Given the description of an element on the screen output the (x, y) to click on. 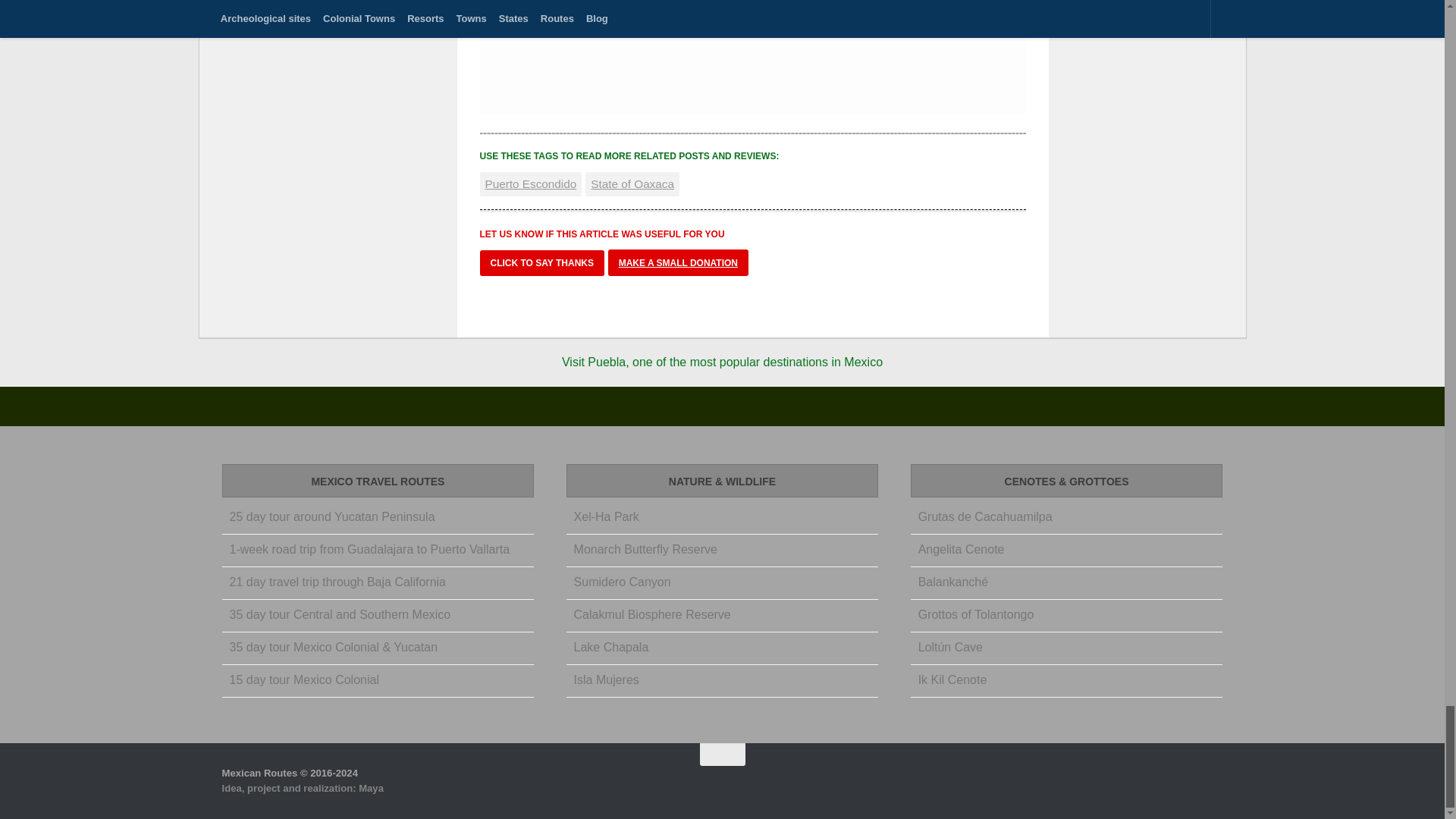
Permalink to 25 day tour around Yucatan Peninsula (330, 516)
Click to say thanks (541, 263)
